Given the description of an element on the screen output the (x, y) to click on. 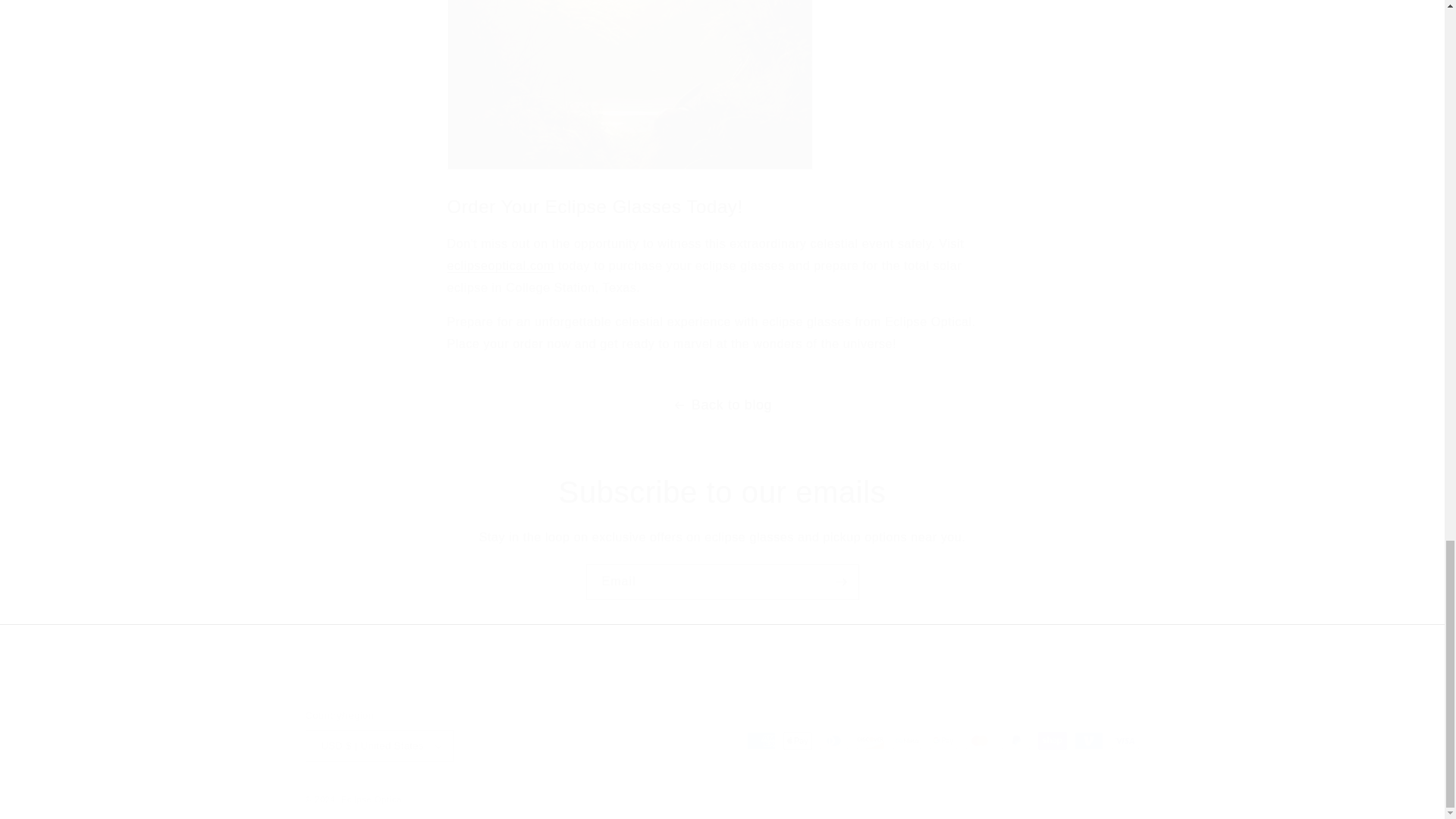
Email (722, 581)
eclipseoptical.com (500, 265)
Subscribe to our emails (721, 491)
Eclipse Optical (372, 798)
